Given the description of an element on the screen output the (x, y) to click on. 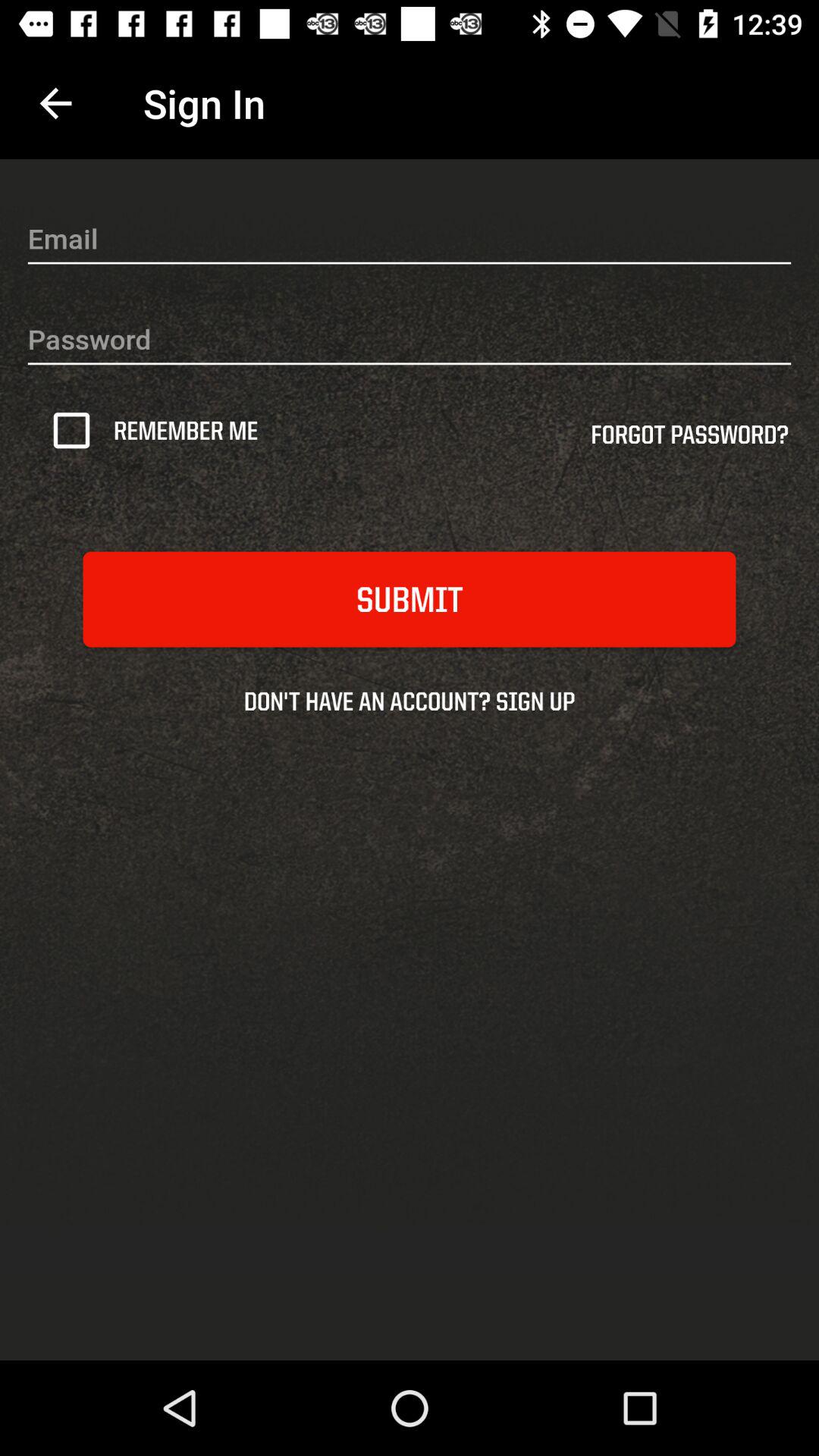
flip to submit icon (409, 599)
